Given the description of an element on the screen output the (x, y) to click on. 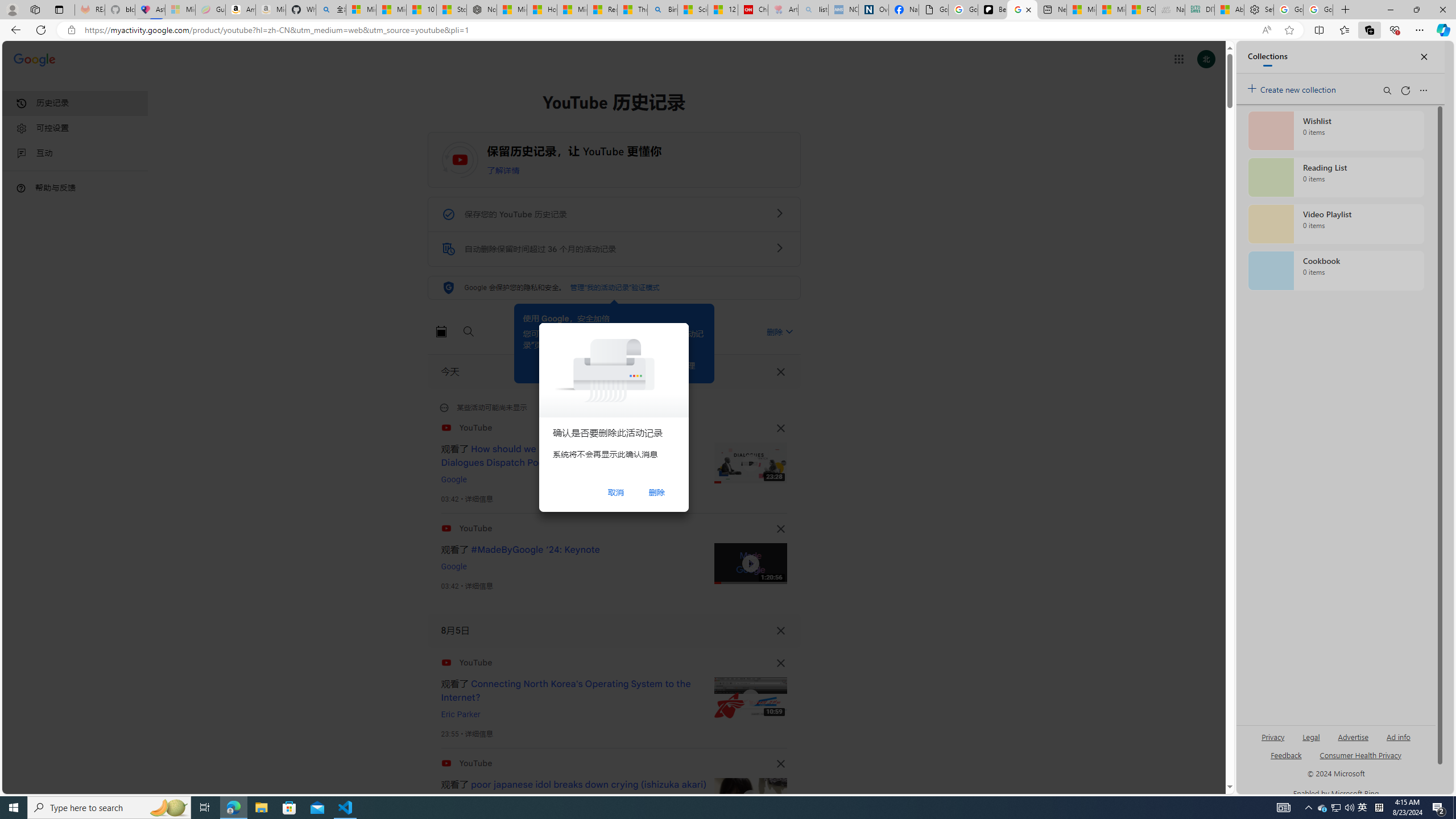
Recipes - MSN (601, 9)
DITOGAMES AG Imprint (1200, 9)
AutomationID: genId96 (1285, 759)
Science - MSN (691, 9)
